Given the description of an element on the screen output the (x, y) to click on. 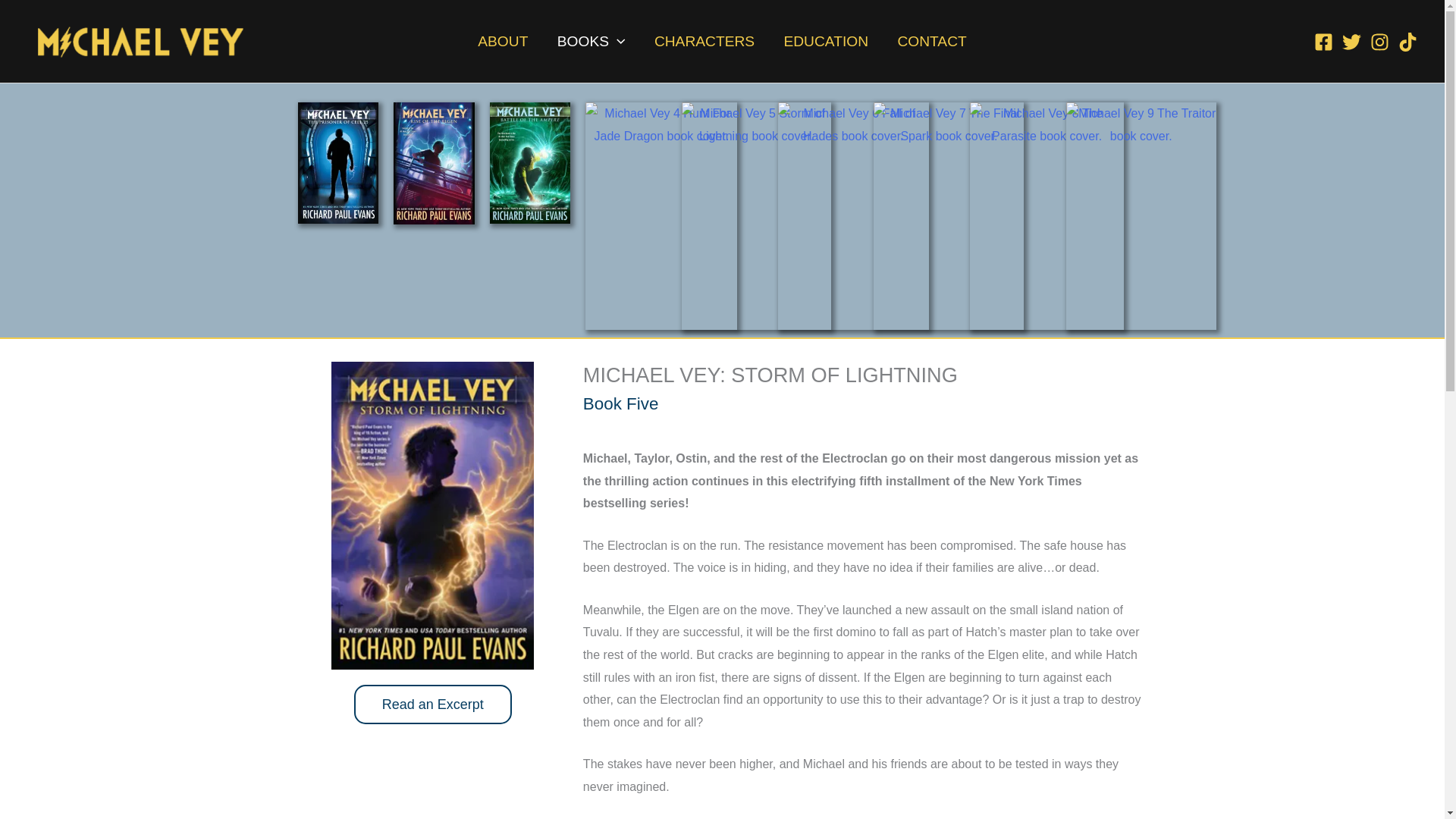
ABOUT (502, 40)
CHARACTERS (705, 40)
BOOKS (591, 40)
EDUCATION (825, 40)
CONTACT (931, 40)
